Given the description of an element on the screen output the (x, y) to click on. 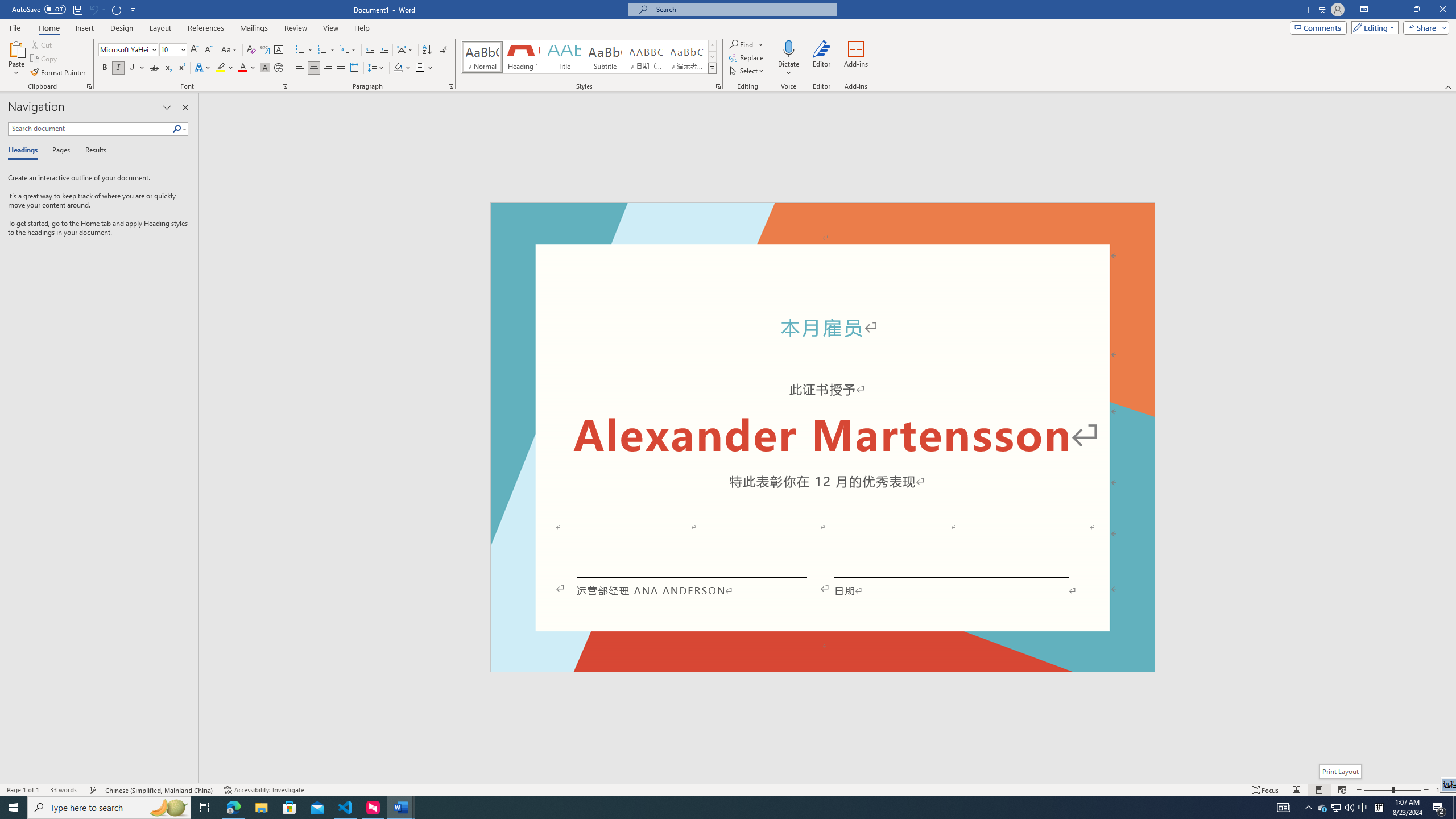
Footer -Section 1- (822, 666)
